Given the description of an element on the screen output the (x, y) to click on. 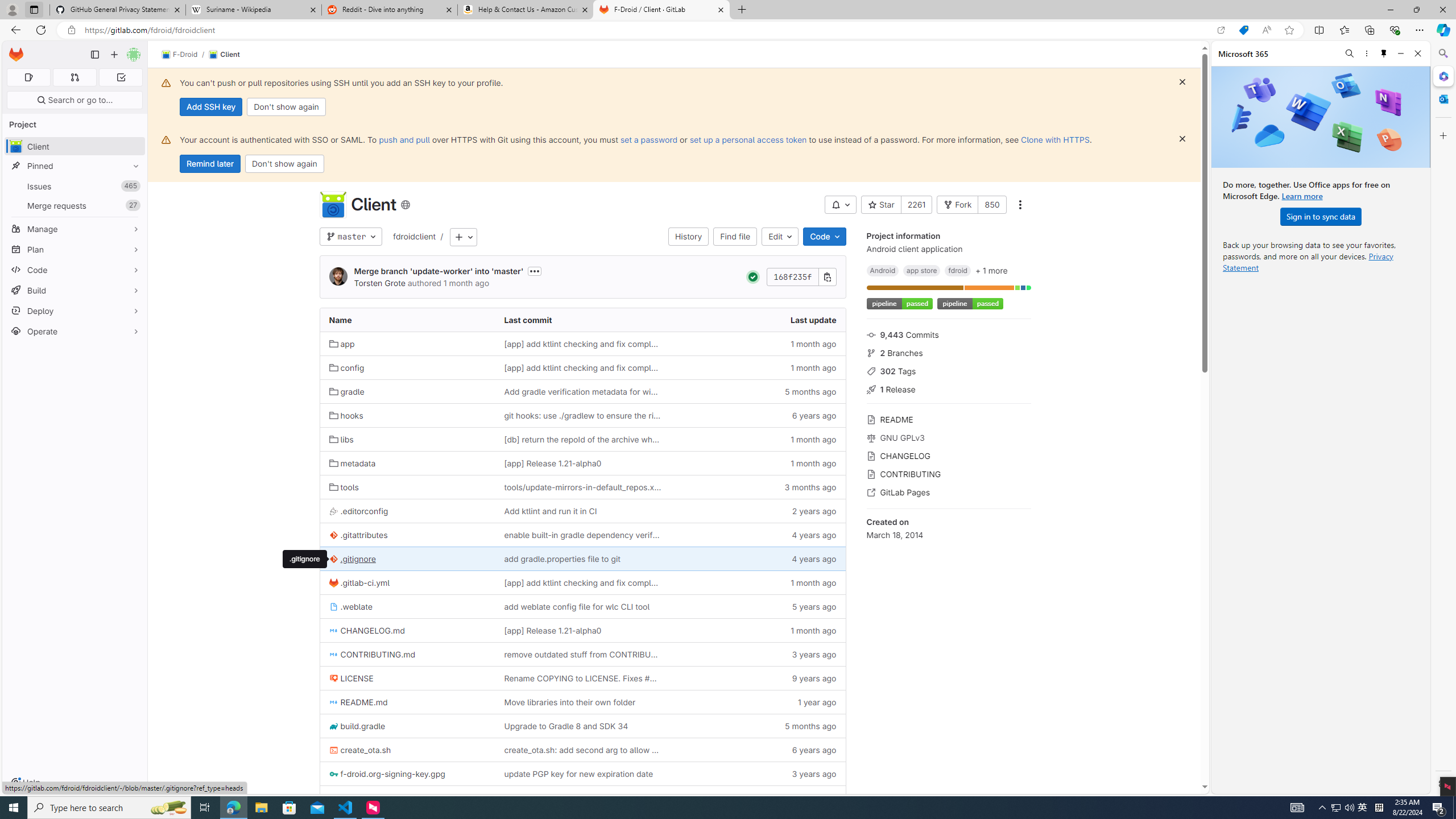
Add ktlint and run it in CI (549, 511)
9,443 Commits (948, 333)
Code (74, 269)
LICENSE (351, 678)
.gitattributes (407, 534)
2 years ago (757, 510)
add weblate config file for wlc CLI tool (583, 606)
gradle.properties (407, 797)
GNU GPLv3 (948, 437)
README (948, 418)
1 Release (948, 388)
Issues465 (74, 185)
